Given the description of an element on the screen output the (x, y) to click on. 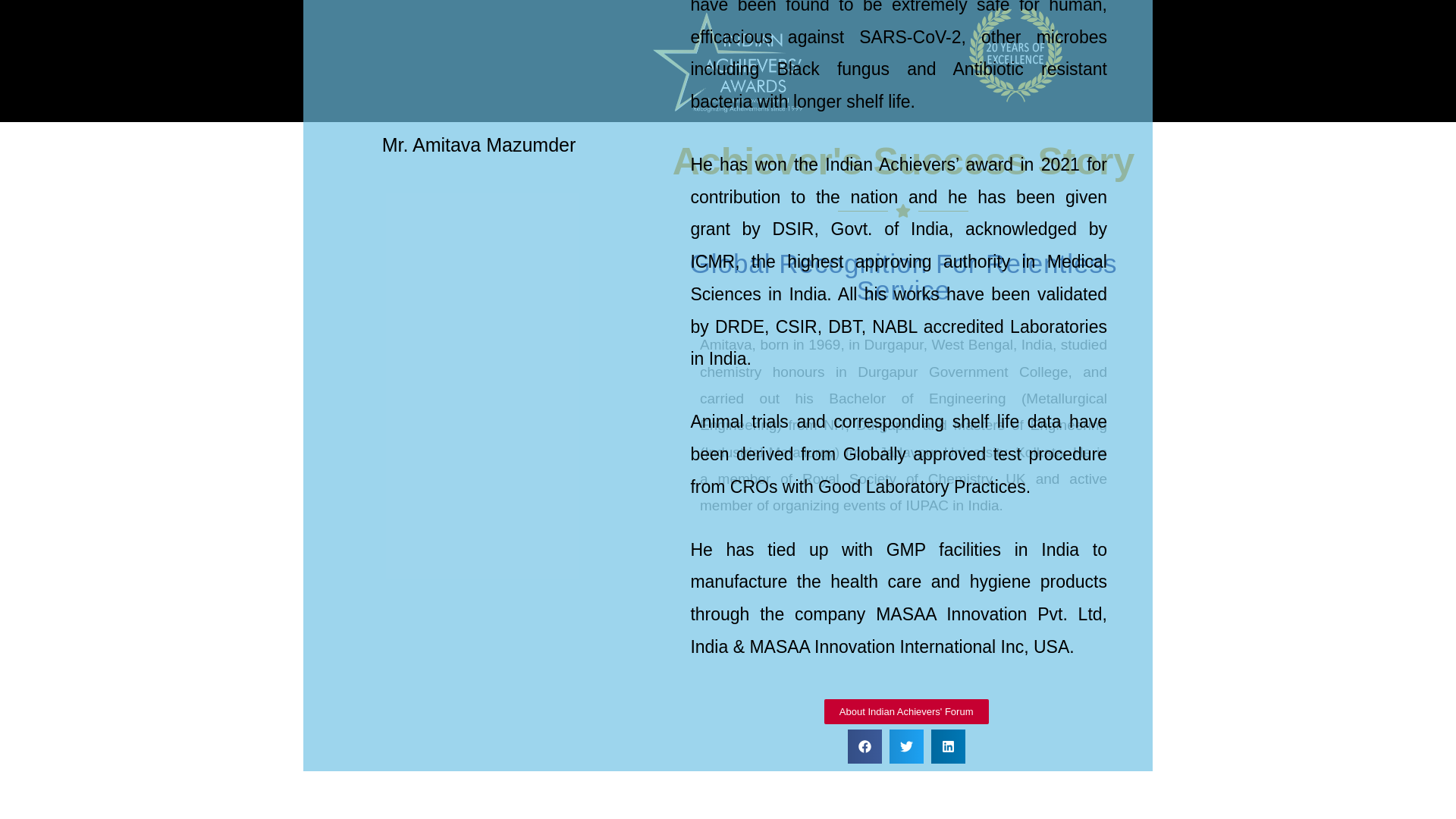
About Indian Achievers' Forum (958, 719)
